Given the description of an element on the screen output the (x, y) to click on. 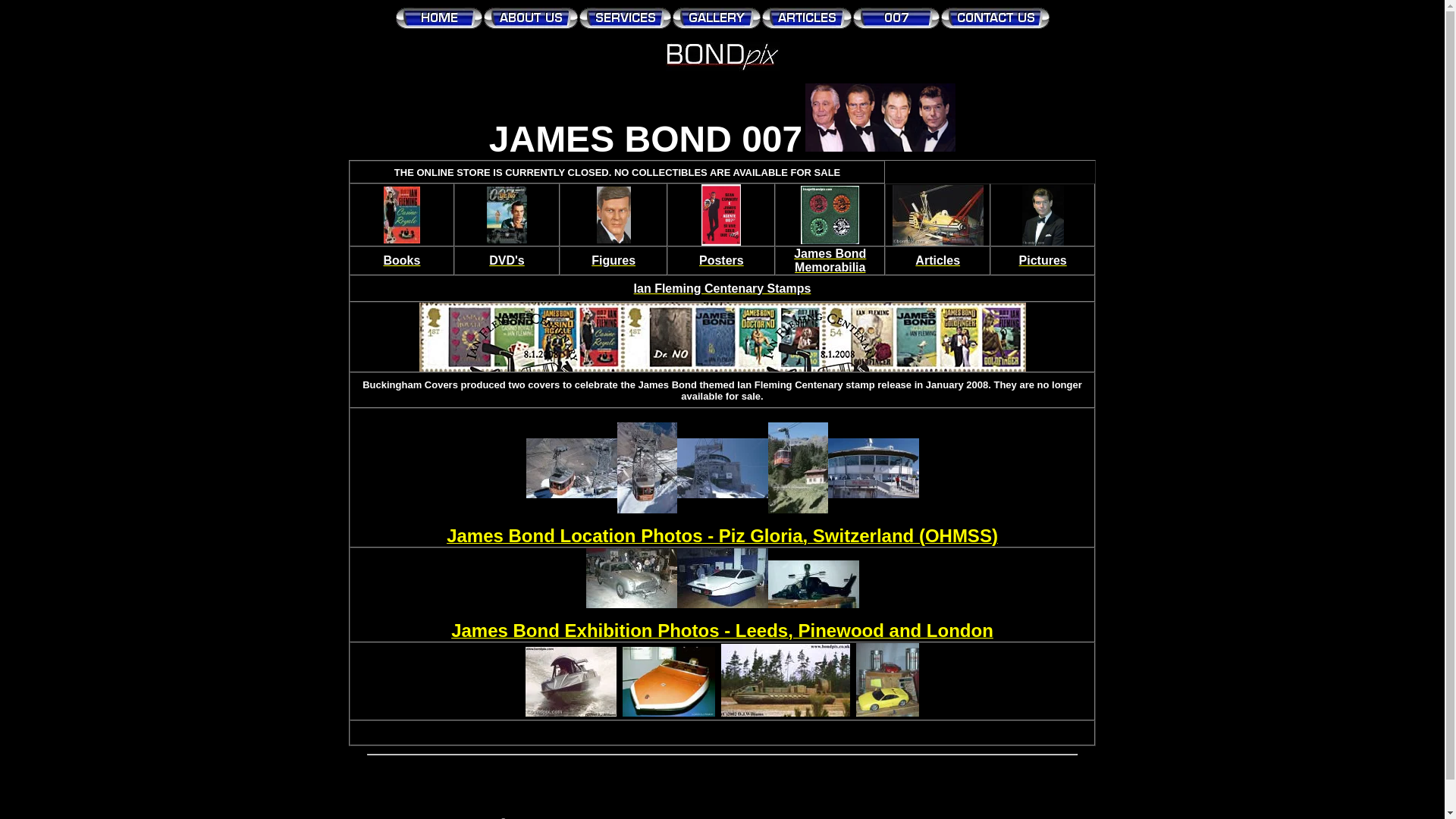
DVD's (506, 259)
Ian Fleming Centenary Stamps (721, 287)
Pictures (1043, 259)
Figures (612, 259)
James Bond Memorabilia (829, 260)
Articles (937, 259)
Books (402, 259)
Posters (721, 259)
